Given the description of an element on the screen output the (x, y) to click on. 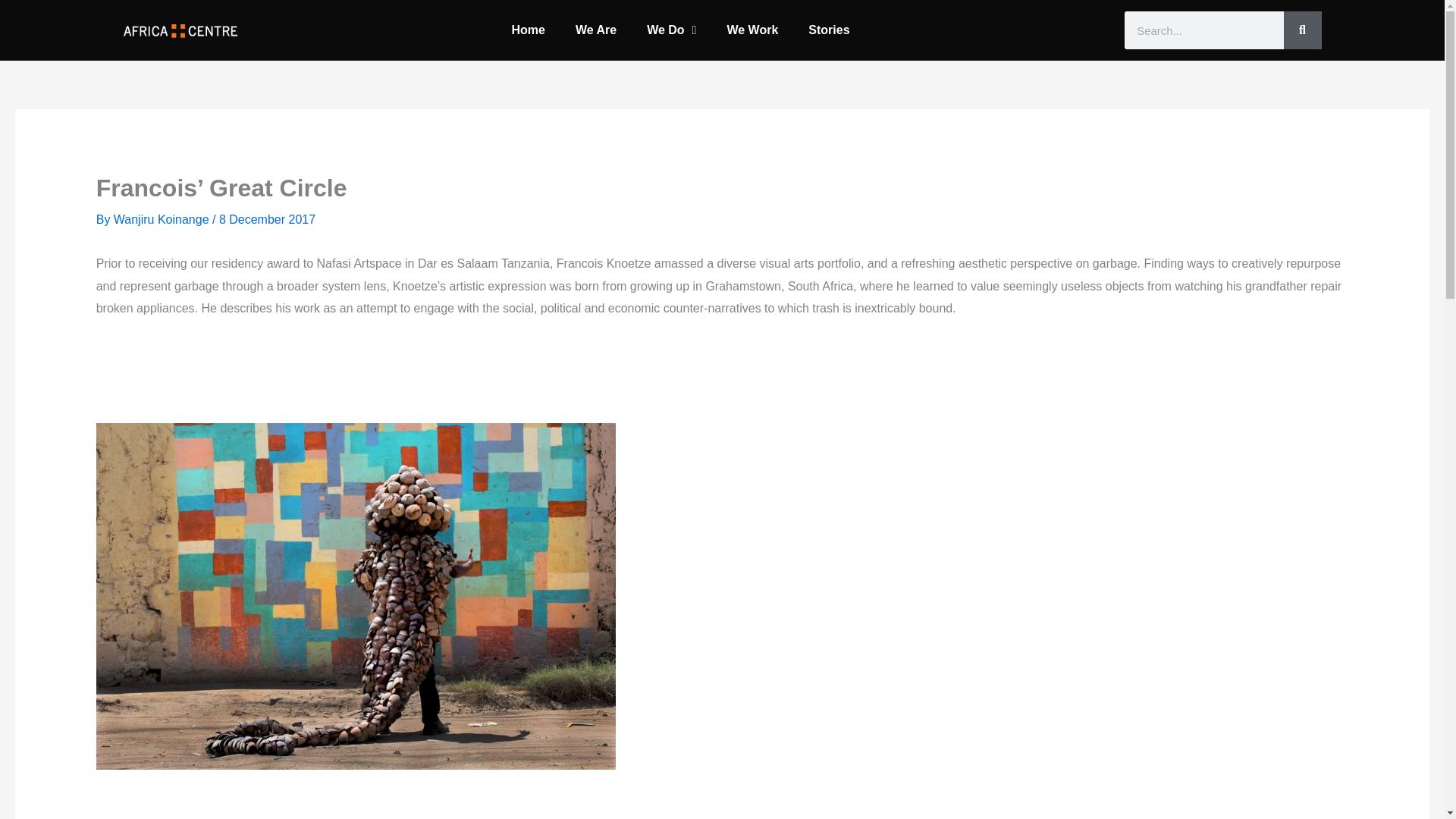
We Work (752, 30)
Stories (828, 30)
Home (527, 30)
We Do (671, 30)
View all posts by Wanjiru Koinange (162, 219)
Search (1301, 30)
We Are (595, 30)
